Given the description of an element on the screen output the (x, y) to click on. 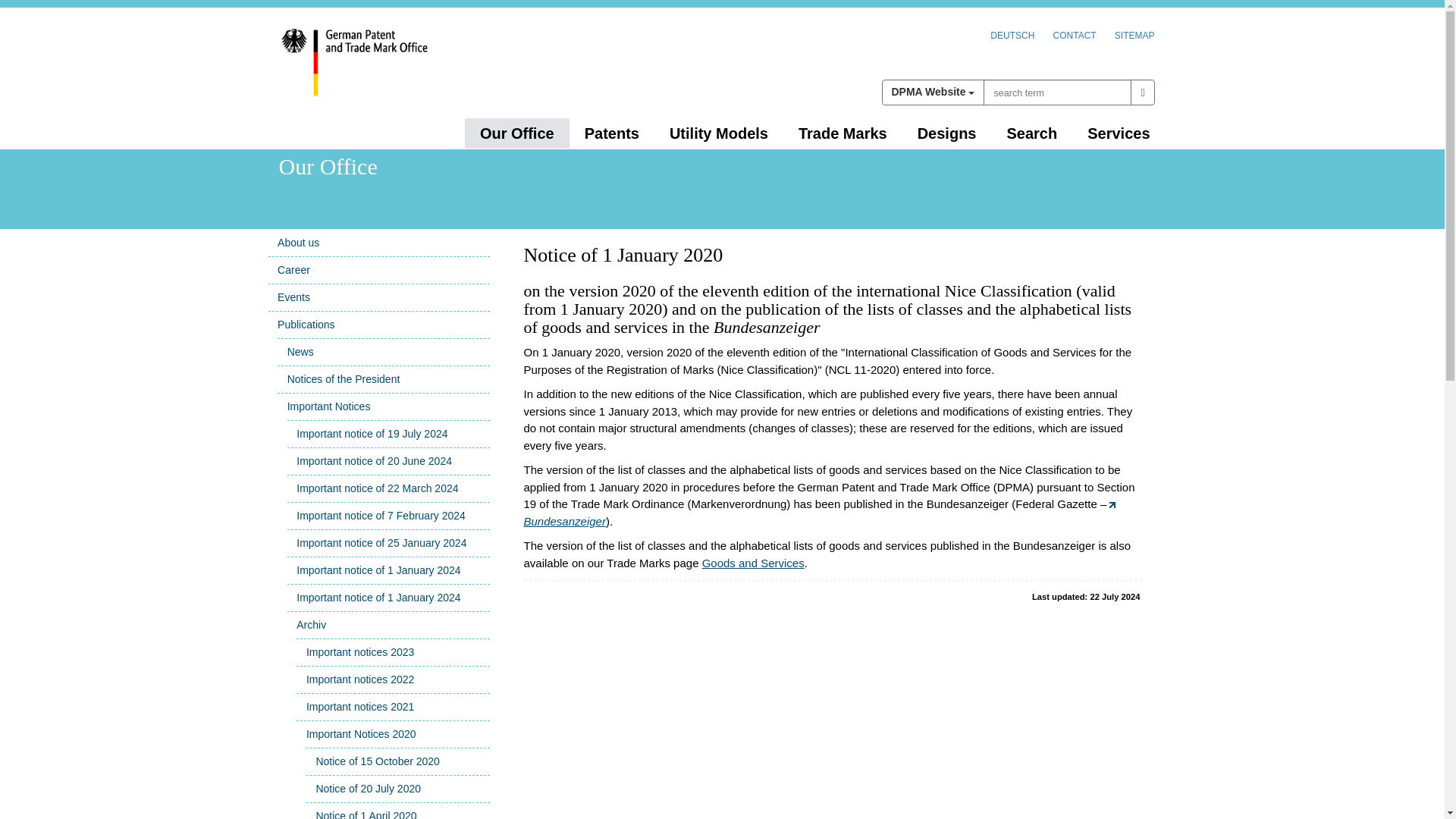
Utility Models (718, 132)
Trade Marks (842, 132)
search (932, 92)
SITEMAP (1142, 92)
search (1134, 35)
CONTACT (1142, 92)
zur Startseite des DPMA (1074, 35)
Patents (379, 71)
DEUTSCH (611, 132)
